Given the description of an element on the screen output the (x, y) to click on. 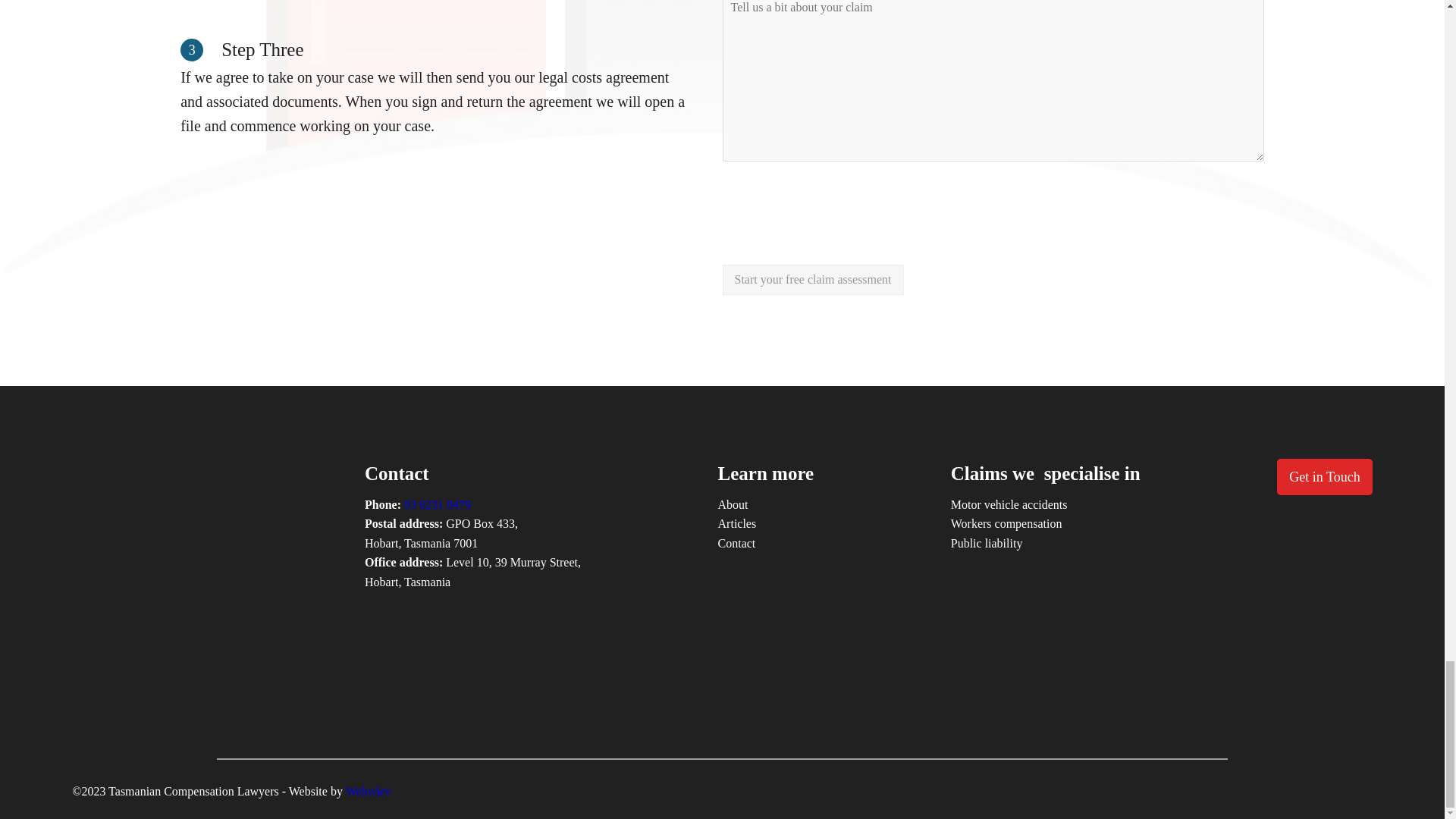
Widget containing checkbox for hCaptcha security challenge (837, 205)
03 6231 0479 (437, 504)
Motor vehicle accidents (1008, 505)
Webvdev (368, 790)
Contact (736, 543)
Workers compensation (1006, 523)
About (732, 505)
Start your free claim assessment (812, 279)
Articles (737, 523)
Get in Touch (1323, 477)
Public liability (986, 543)
